Given the description of an element on the screen output the (x, y) to click on. 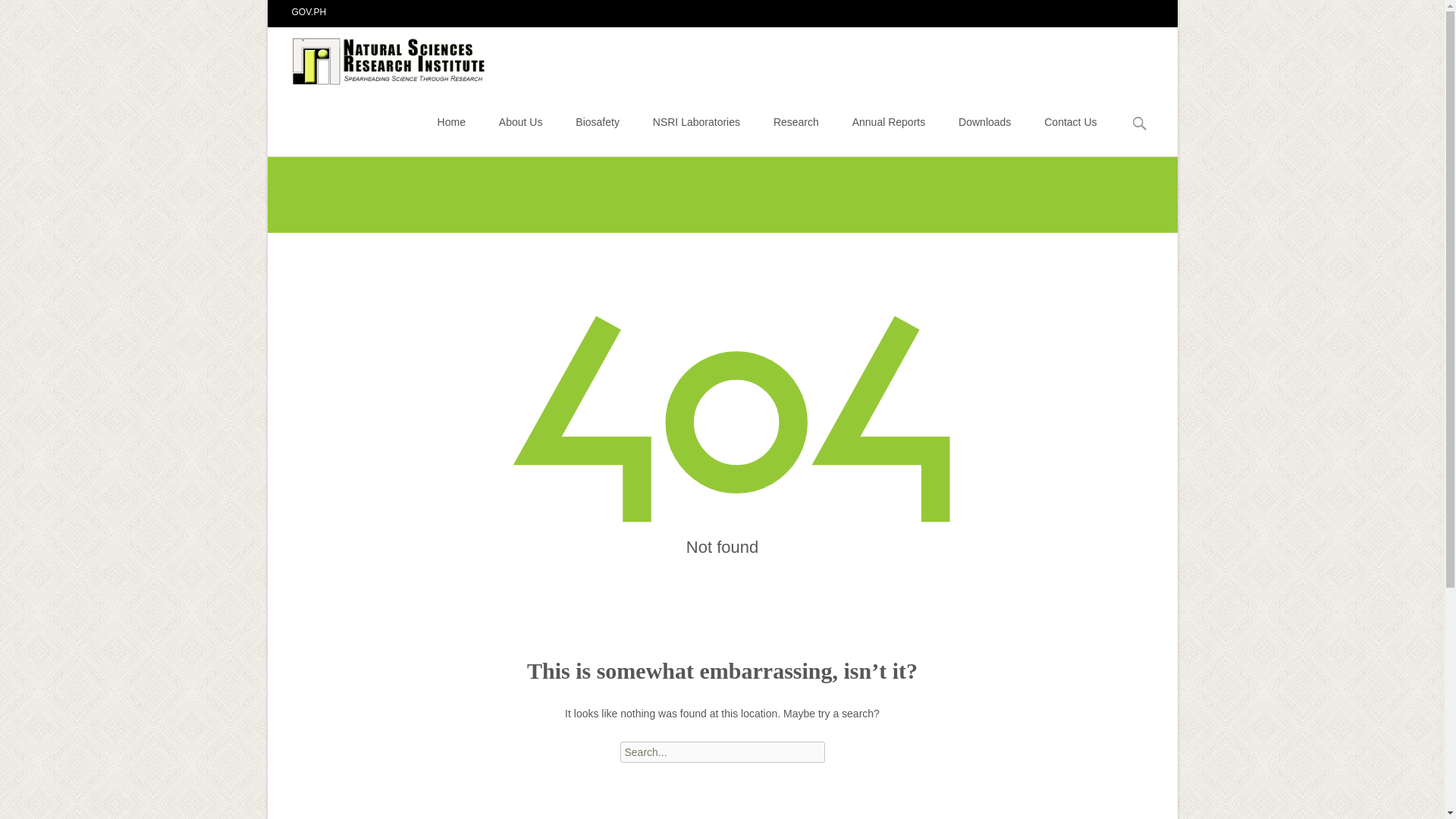
Search (34, 14)
Search (18, 14)
Search for: (722, 752)
Natural Sciences Research Institute (378, 57)
Annual Reports (888, 121)
NSRI Laboratories (695, 121)
Search for: (1139, 123)
GOV.PH (308, 11)
